Given the description of an element on the screen output the (x, y) to click on. 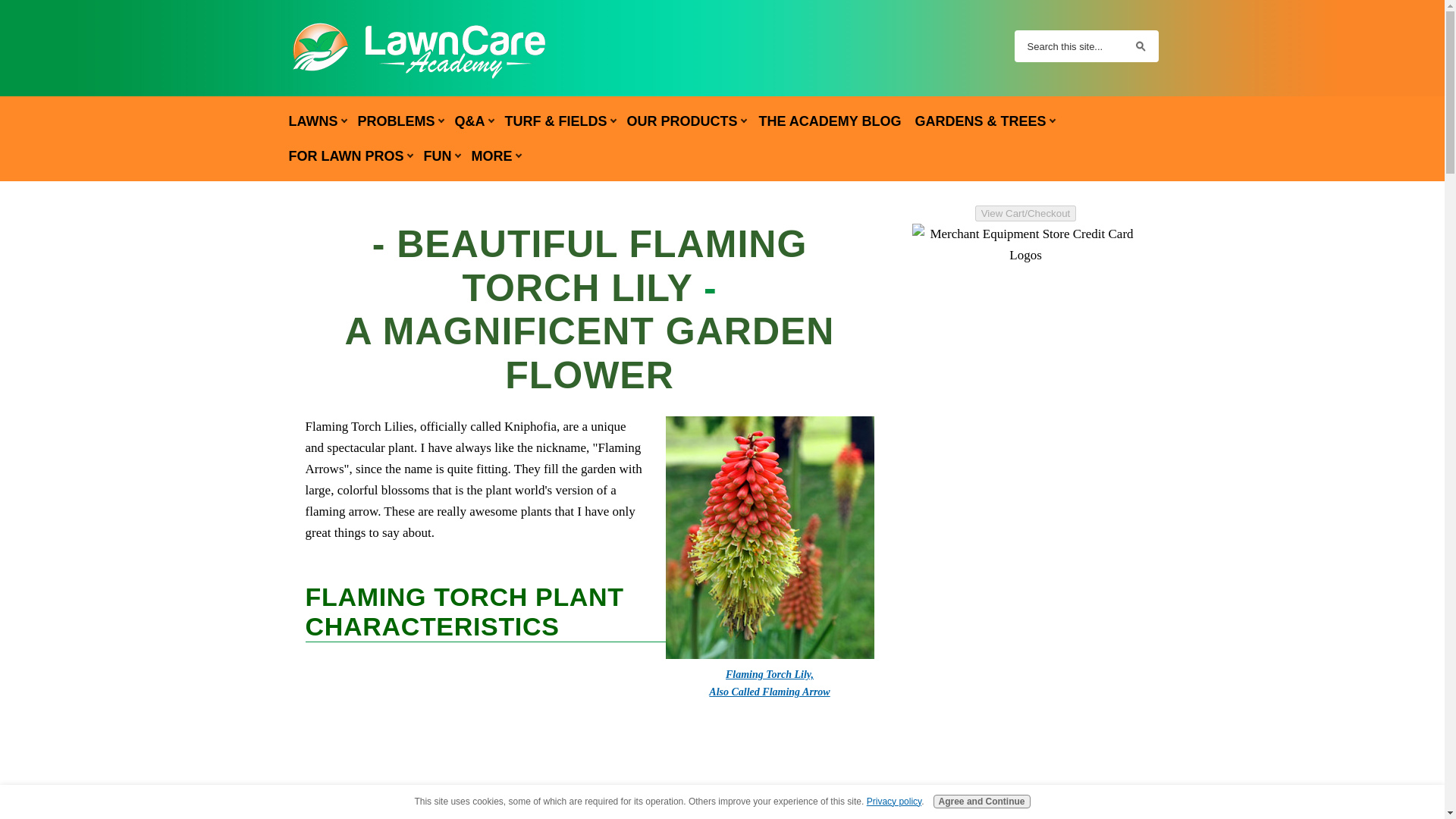
Advertisement (588, 763)
Search this site... (1069, 46)
Go (1140, 46)
Search this site... (1069, 46)
Go (1140, 46)
